Given the description of an element on the screen output the (x, y) to click on. 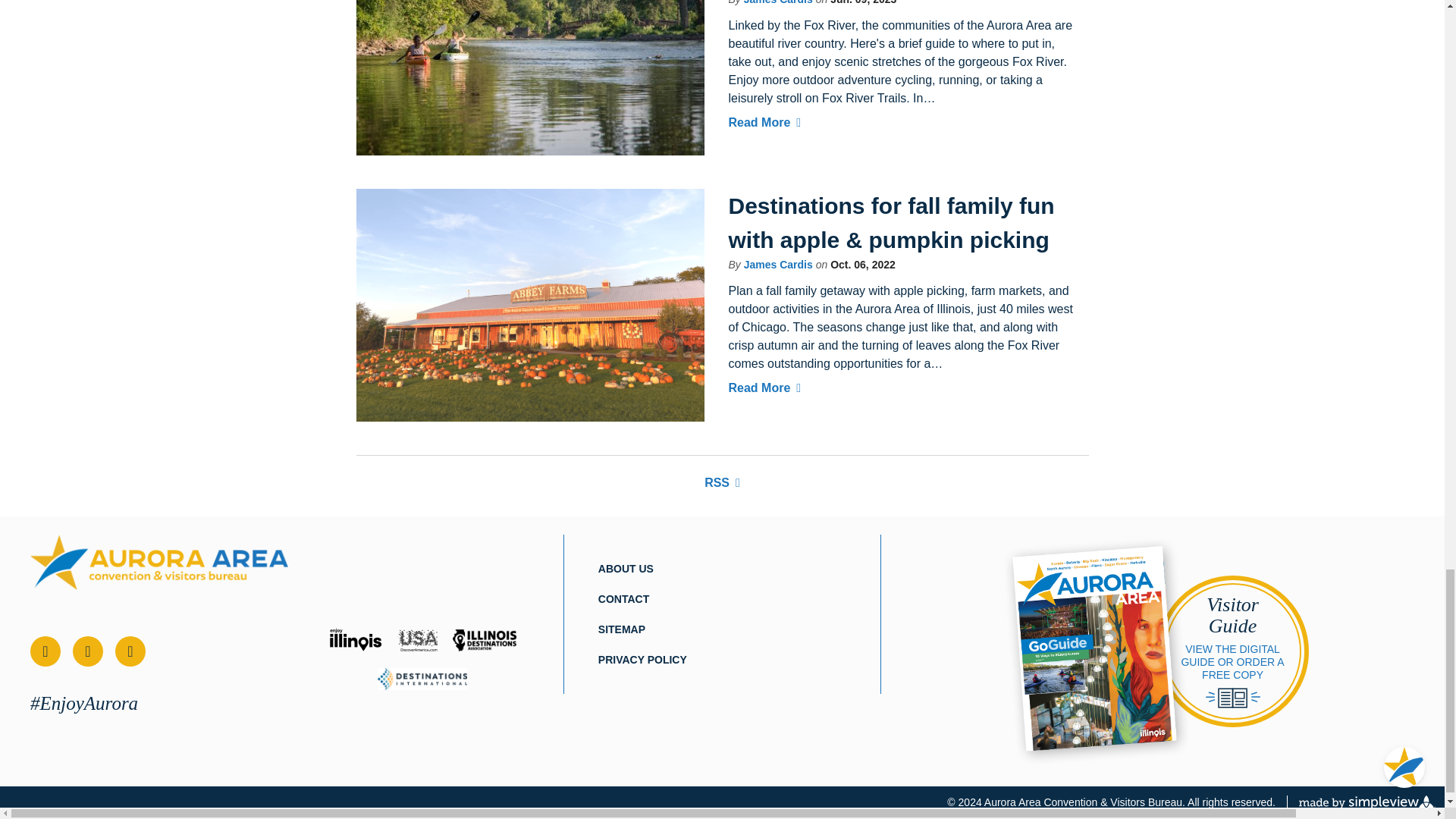
About Us (625, 568)
Privacy Policy (642, 659)
Visit our pinterest page (130, 651)
Visit our facebook page (45, 651)
Visit our instagram page (87, 651)
Contact (623, 598)
Sitemap (621, 629)
